Given the description of an element on the screen output the (x, y) to click on. 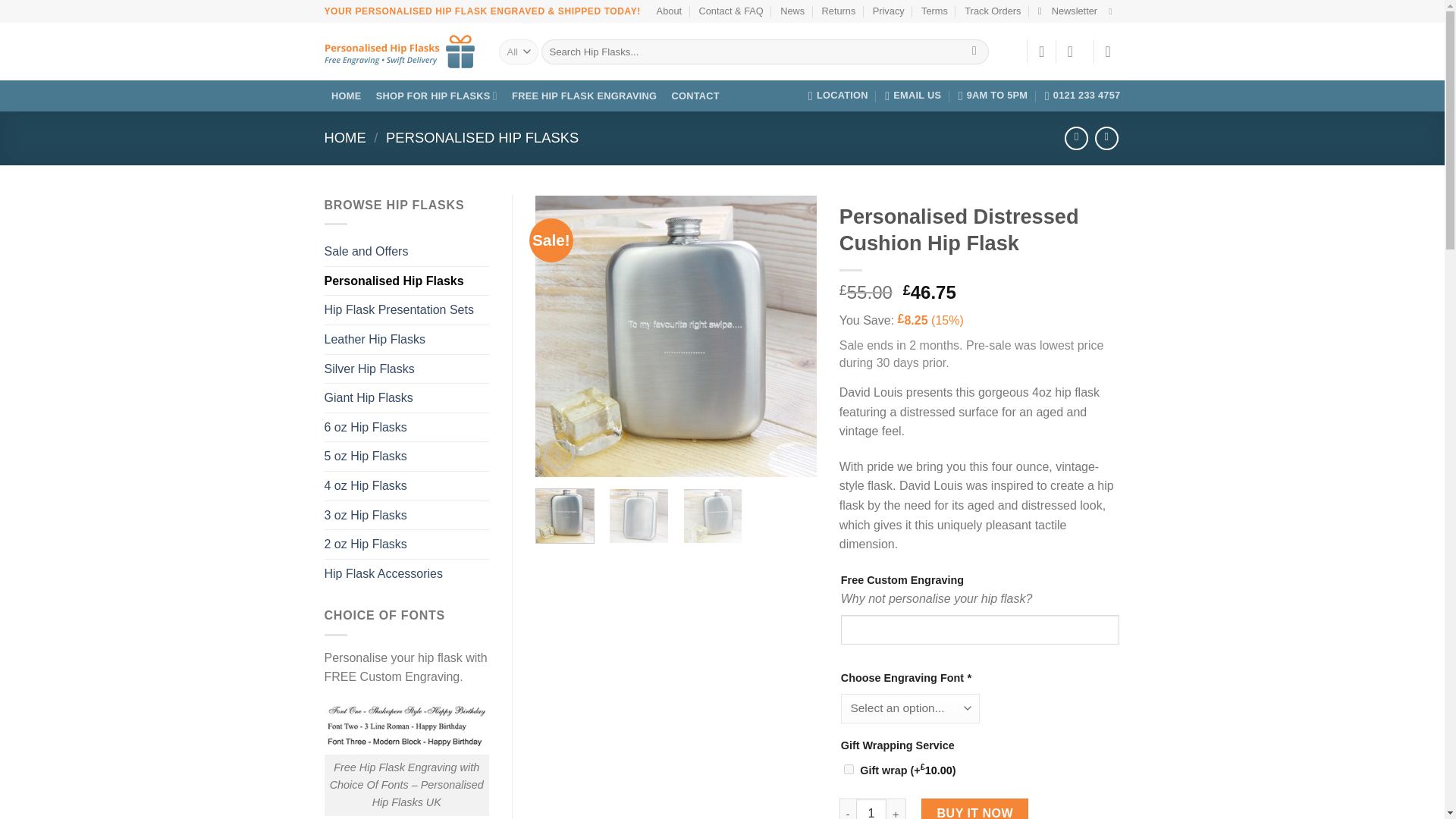
Zoom (558, 454)
About (668, 11)
Search (974, 52)
EMAIL US (912, 95)
SHOP FOR HIP FLASKS (435, 96)
Sign up for Newsletter (1067, 11)
Terms (934, 11)
gift-wrap (848, 768)
9AM TO 5PM (992, 95)
